Given the description of an element on the screen output the (x, y) to click on. 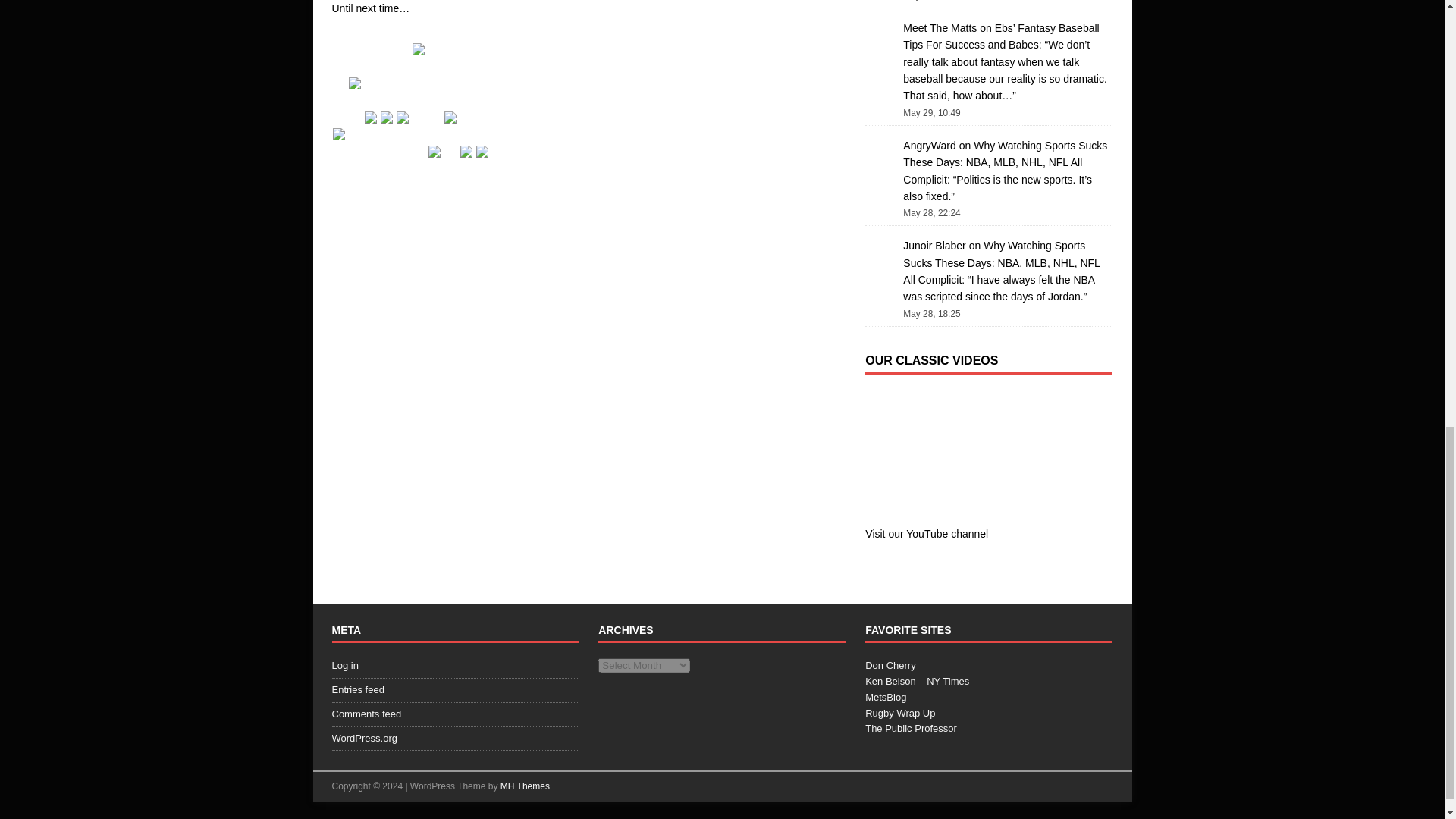
Reddit (452, 115)
Tumblr (404, 115)
Digg (436, 149)
Twitter (339, 132)
StumbleUpon (420, 47)
Email (468, 149)
Facebook (357, 81)
Print (484, 149)
Linkedin (388, 115)
Pinterest (372, 115)
